Given the description of an element on the screen output the (x, y) to click on. 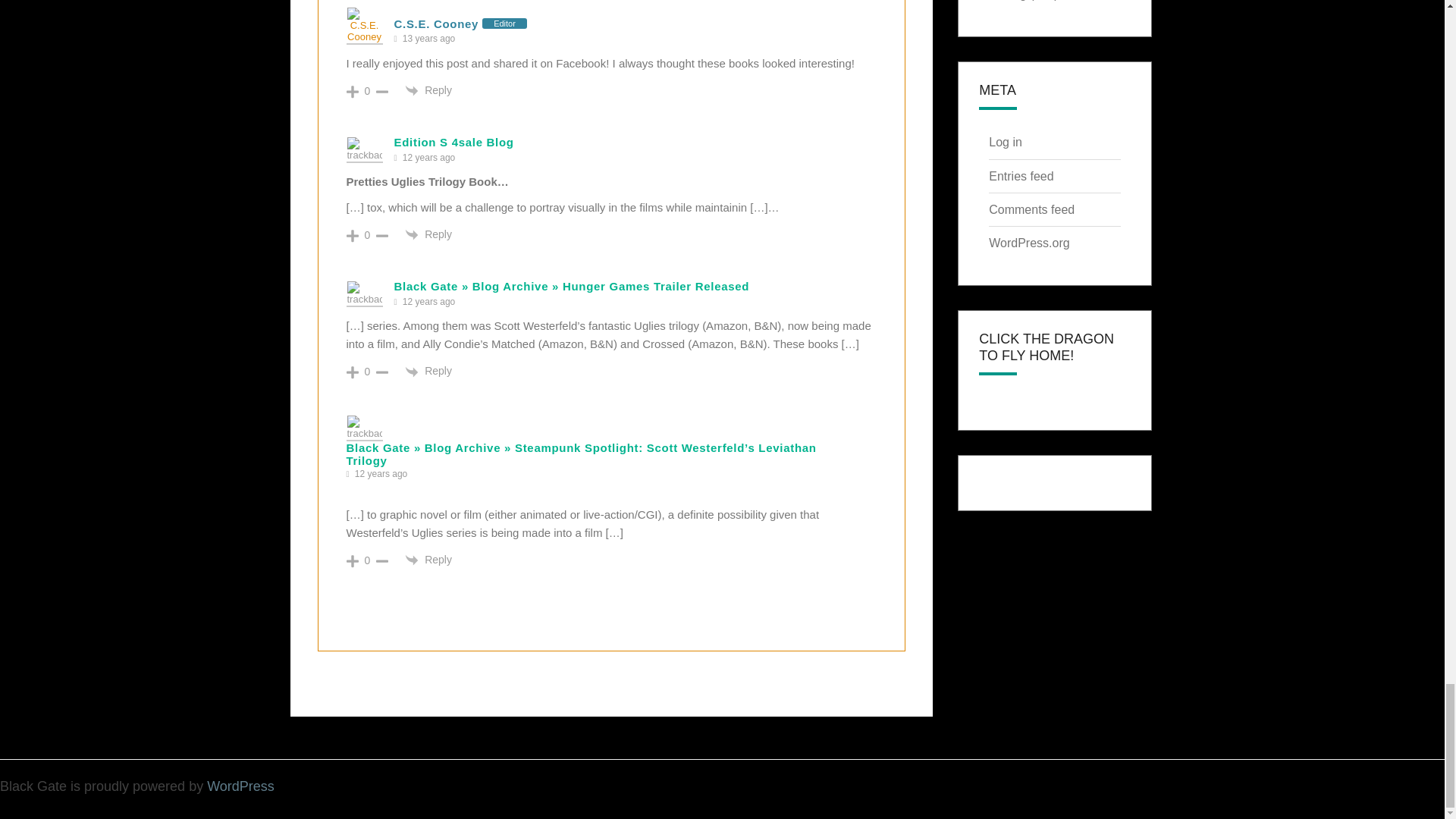
Tuesday, July 26, 2011 9:19 pm (428, 38)
Edition S 4sale Blog (453, 141)
0 (366, 91)
0 (366, 234)
Wednesday, August 17, 2011 11:54 pm (428, 157)
C.S.E. Cooney (436, 23)
